Given the description of an element on the screen output the (x, y) to click on. 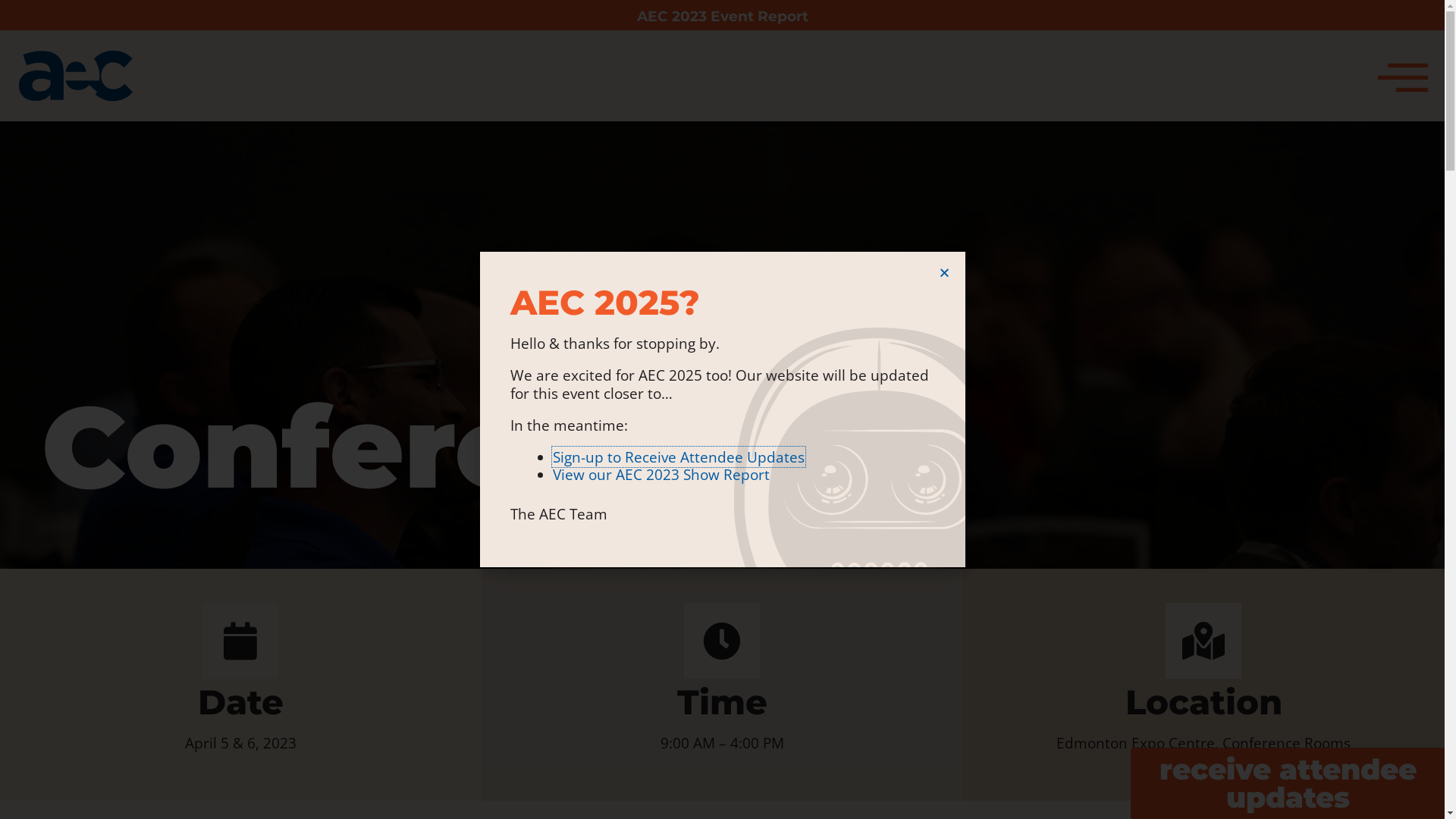
AEC 2023 Event Report Element type: text (722, 16)
Sign-up to Receive Attendee Updates Element type: text (678, 456)
View our AEC 2023 Show Report  Element type: text (662, 473)
